Given the description of an element on the screen output the (x, y) to click on. 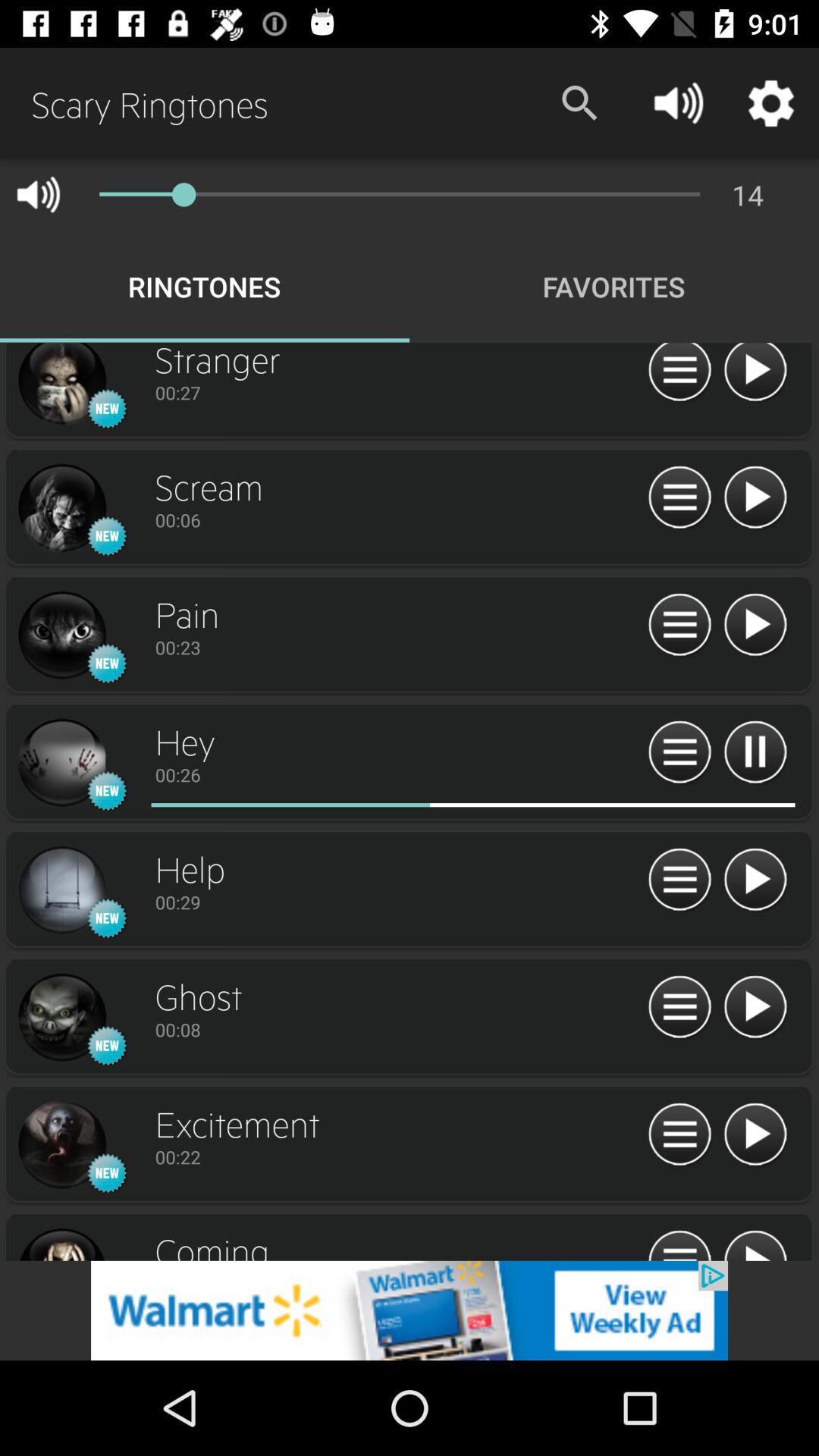
pain (61, 635)
